Given the description of an element on the screen output the (x, y) to click on. 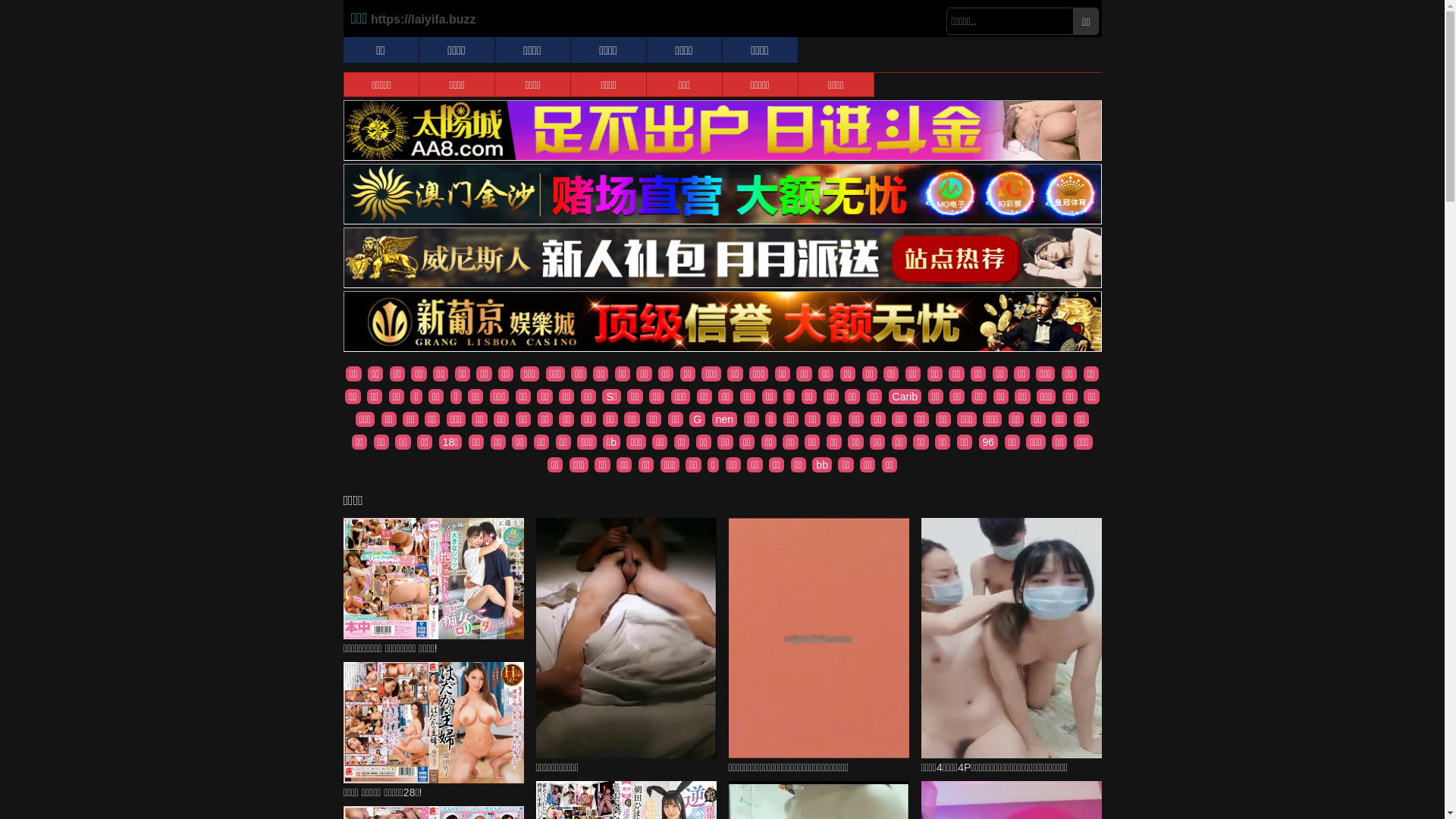
96 Element type: text (988, 441)
Carib Element type: text (904, 396)
G Element type: text (697, 418)
nen Element type: text (724, 418)
bb Element type: text (821, 464)
